Given the description of an element on the screen output the (x, y) to click on. 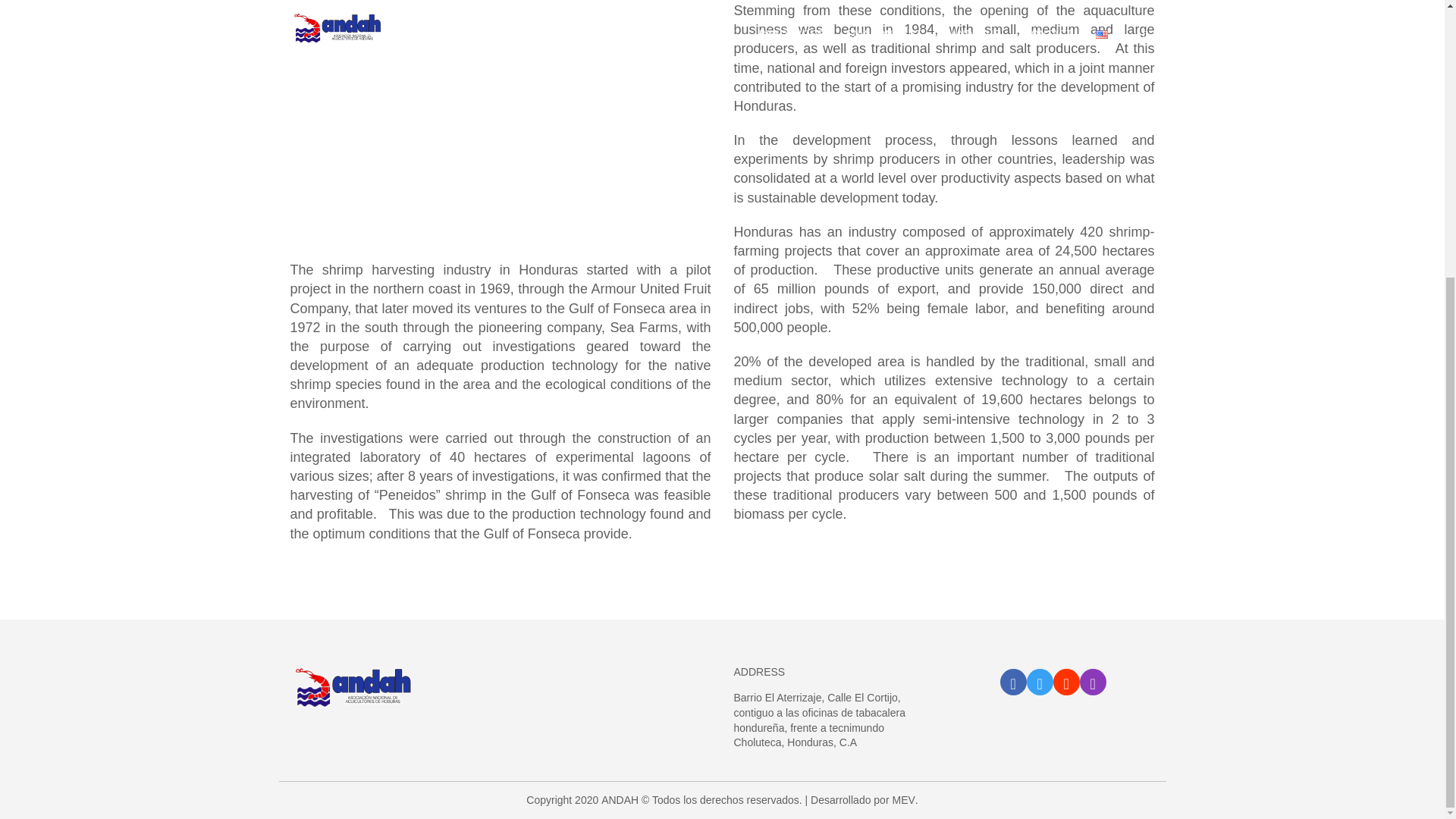
MEV (902, 799)
ANDAH (620, 799)
